Given the description of an element on the screen output the (x, y) to click on. 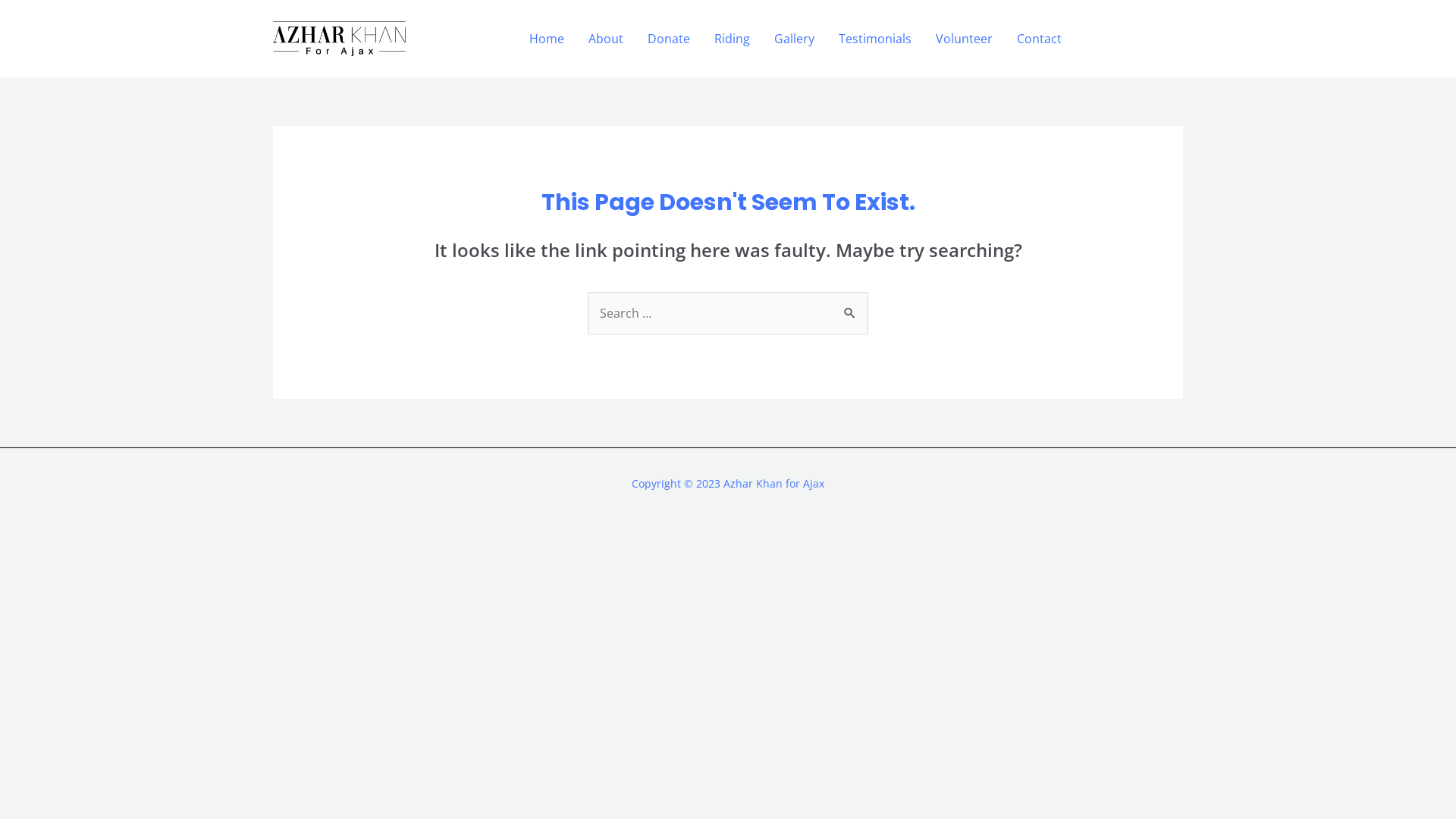
Testimonials Element type: text (874, 38)
Contact Element type: text (1038, 38)
Home Element type: text (546, 38)
Search Element type: text (851, 306)
Volunteer Element type: text (963, 38)
Donate Element type: text (668, 38)
Get A Sign Element type: text (1135, 38)
Riding Element type: text (732, 38)
Gallery Element type: text (794, 38)
About Element type: text (605, 38)
